Given the description of an element on the screen output the (x, y) to click on. 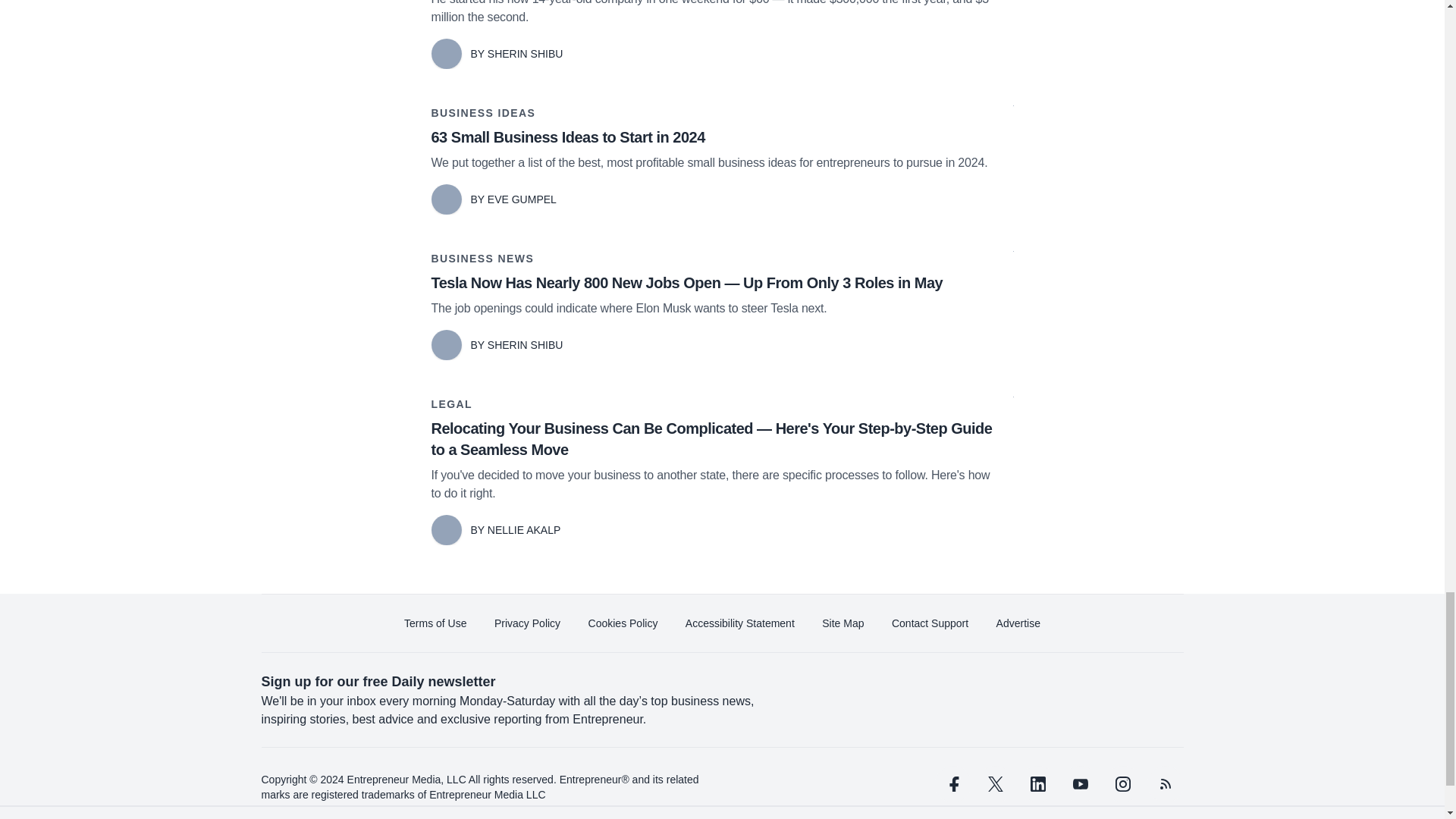
linkedin (1037, 783)
twitter (994, 783)
rss (1164, 783)
facebook (952, 783)
youtube (1079, 783)
instagram (1121, 783)
